Given the description of an element on the screen output the (x, y) to click on. 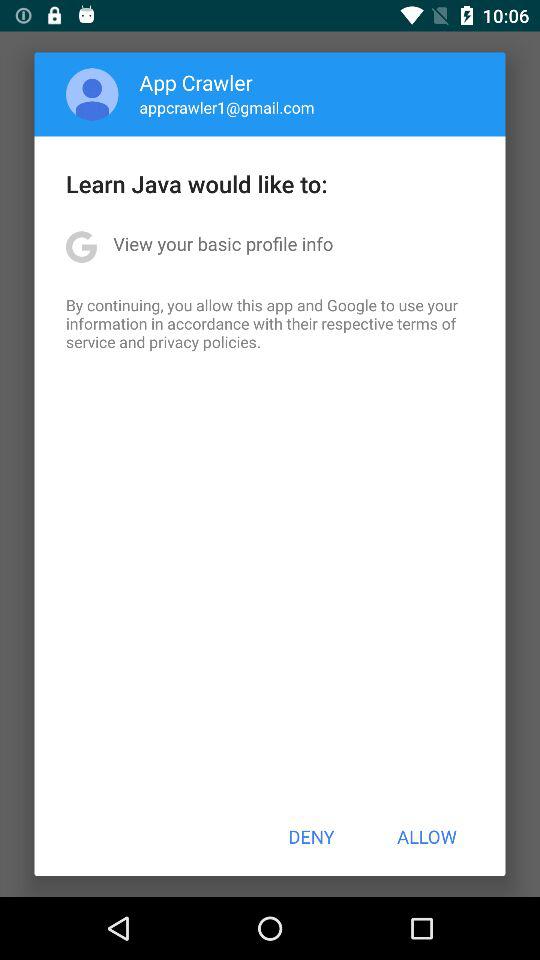
launch the icon above the learn java would (226, 107)
